Given the description of an element on the screen output the (x, y) to click on. 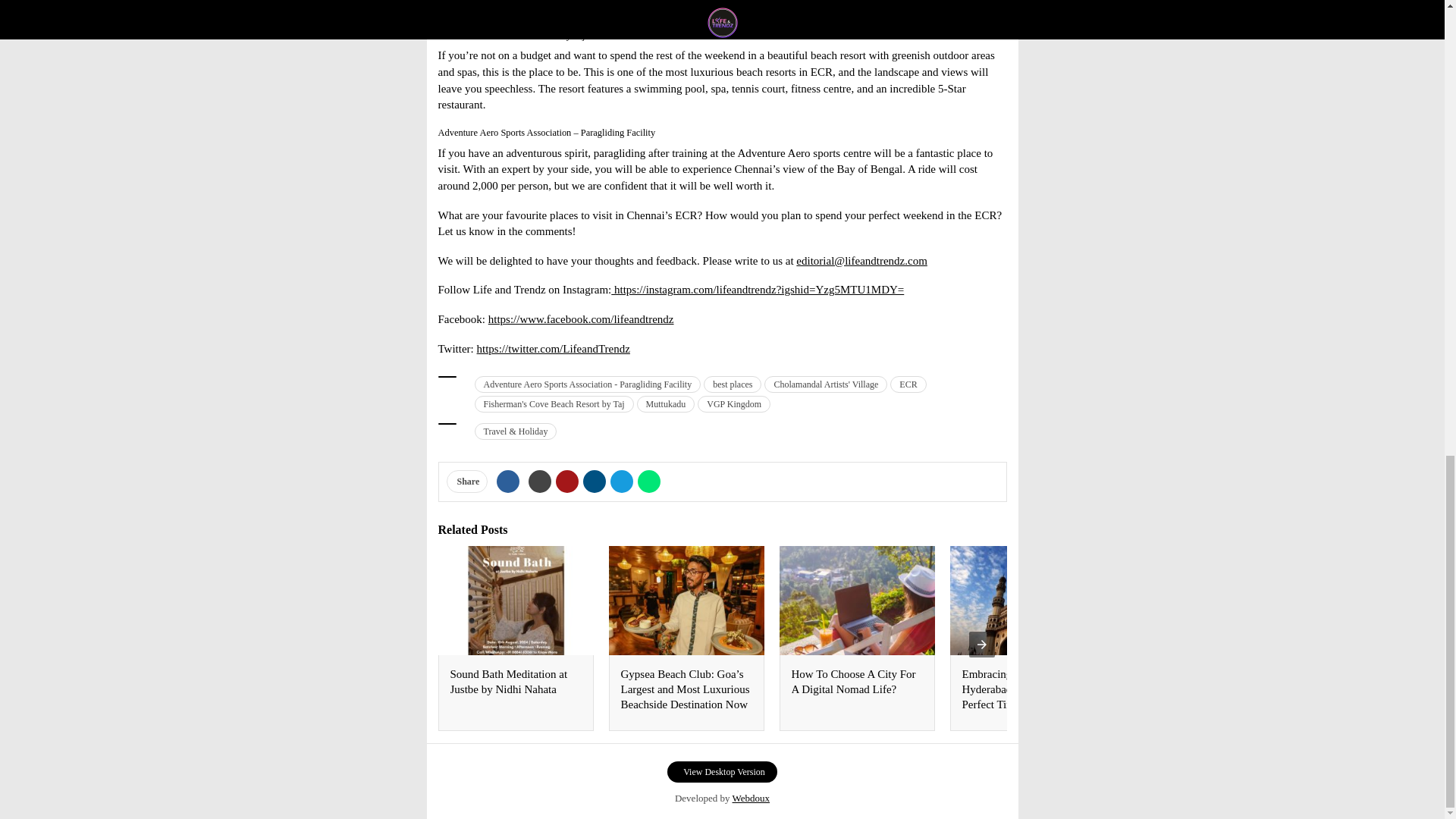
Adventure Aero Sports Association - Paragliding Facility (587, 384)
ECR (907, 384)
best places (732, 384)
Sound Bath Meditation at Justbe by Nidhi Nahata (508, 681)
Muttukadu (666, 403)
How To Choose A City For A Digital Nomad Life? (853, 681)
Cholamandal Artists' Village (825, 384)
VGP Kingdom (733, 403)
